Given the description of an element on the screen output the (x, y) to click on. 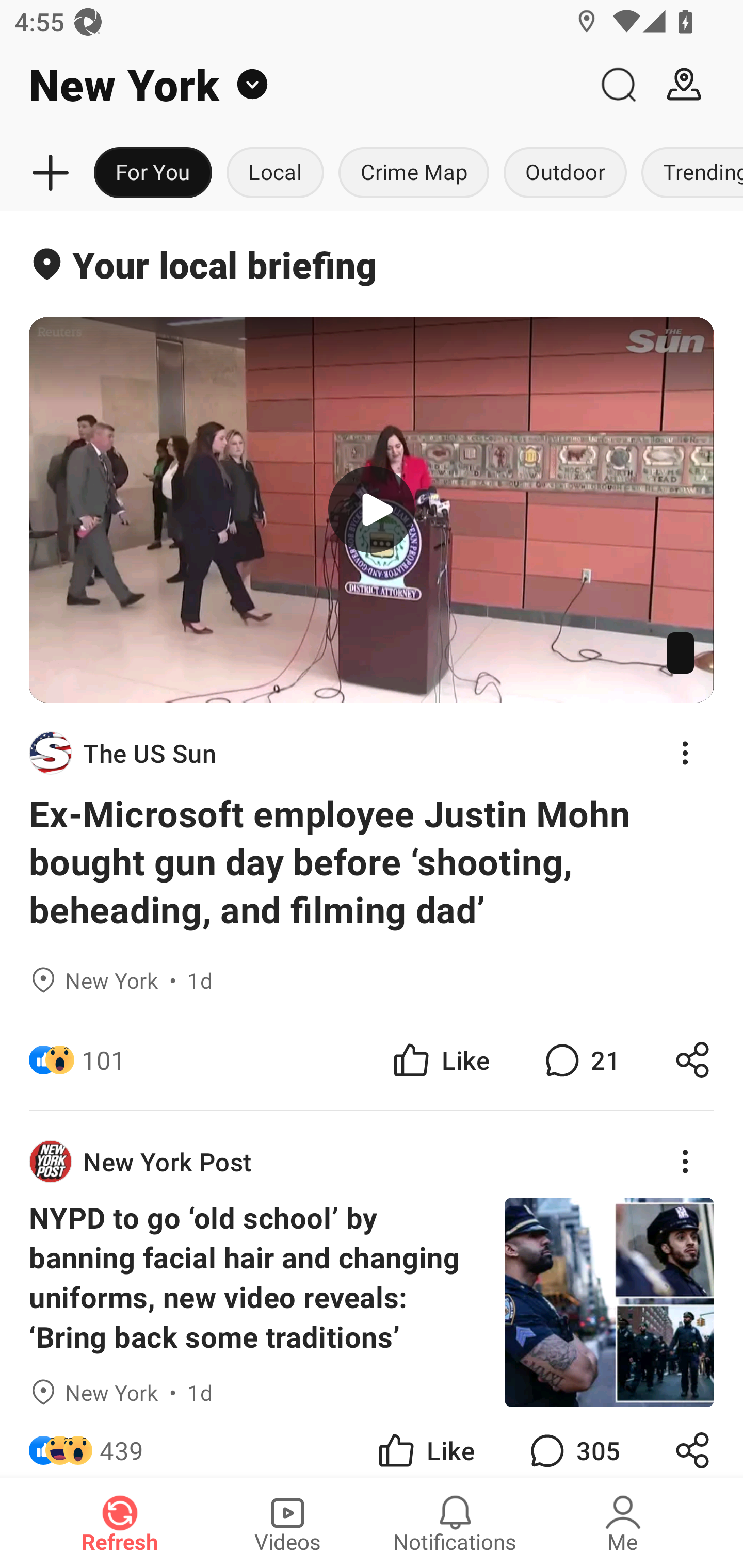
New York (292, 84)
For You (152, 172)
Local (275, 172)
Crime Map (413, 172)
Outdoor (564, 172)
Trending (688, 172)
101 (103, 1059)
Like (439, 1059)
21 (579, 1059)
439 (121, 1441)
Like (425, 1441)
305 (572, 1441)
Videos (287, 1522)
Notifications (455, 1522)
Me (622, 1522)
